Given the description of an element on the screen output the (x, y) to click on. 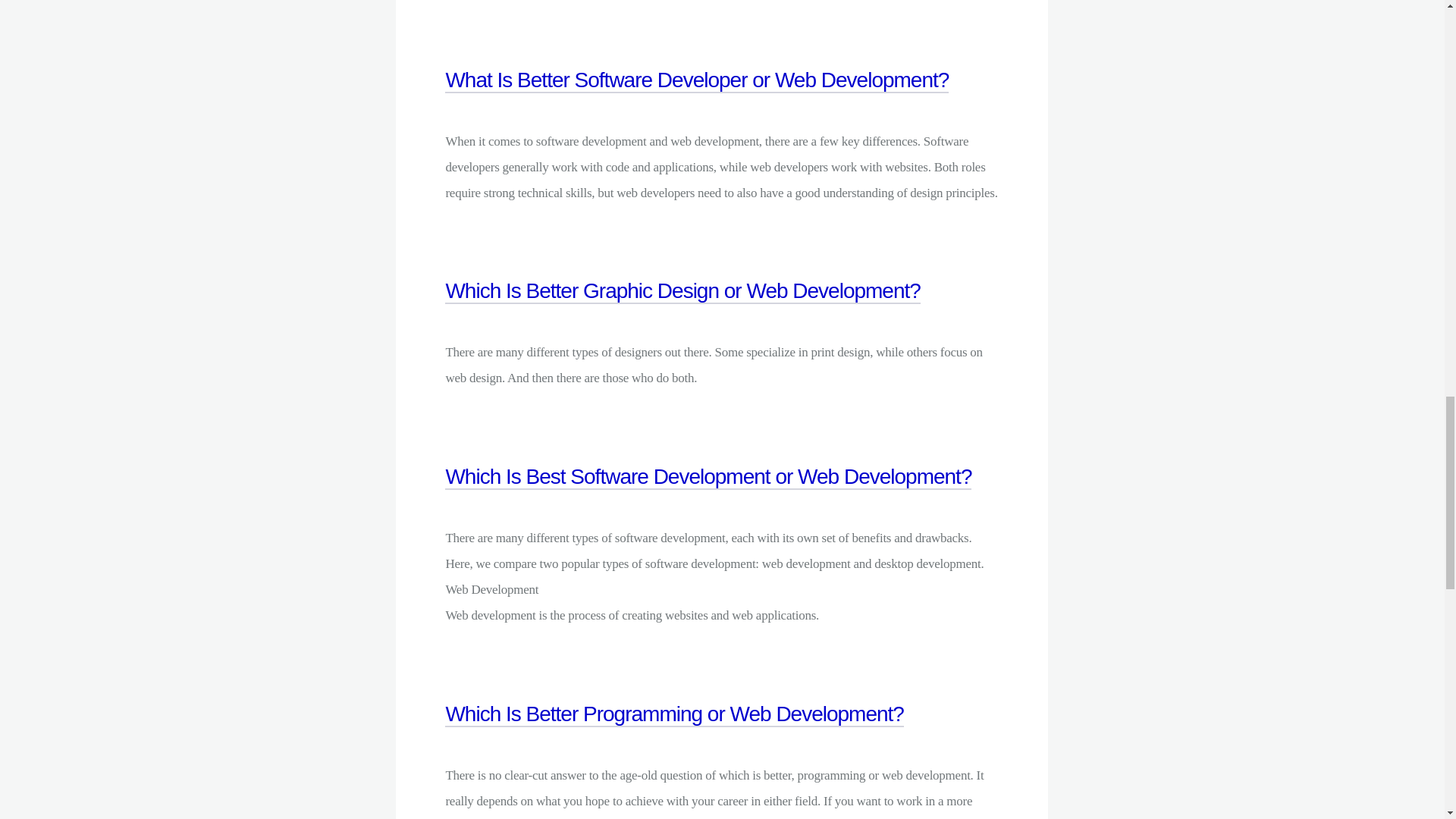
Which Is Better Graphic Design or Web Development? (682, 308)
Which Is Best Software Development or Web Development? (708, 494)
Which Is Better Programming or Web Development? (674, 730)
What Is Better Software Developer or Web Development? (697, 96)
